Given the description of an element on the screen output the (x, y) to click on. 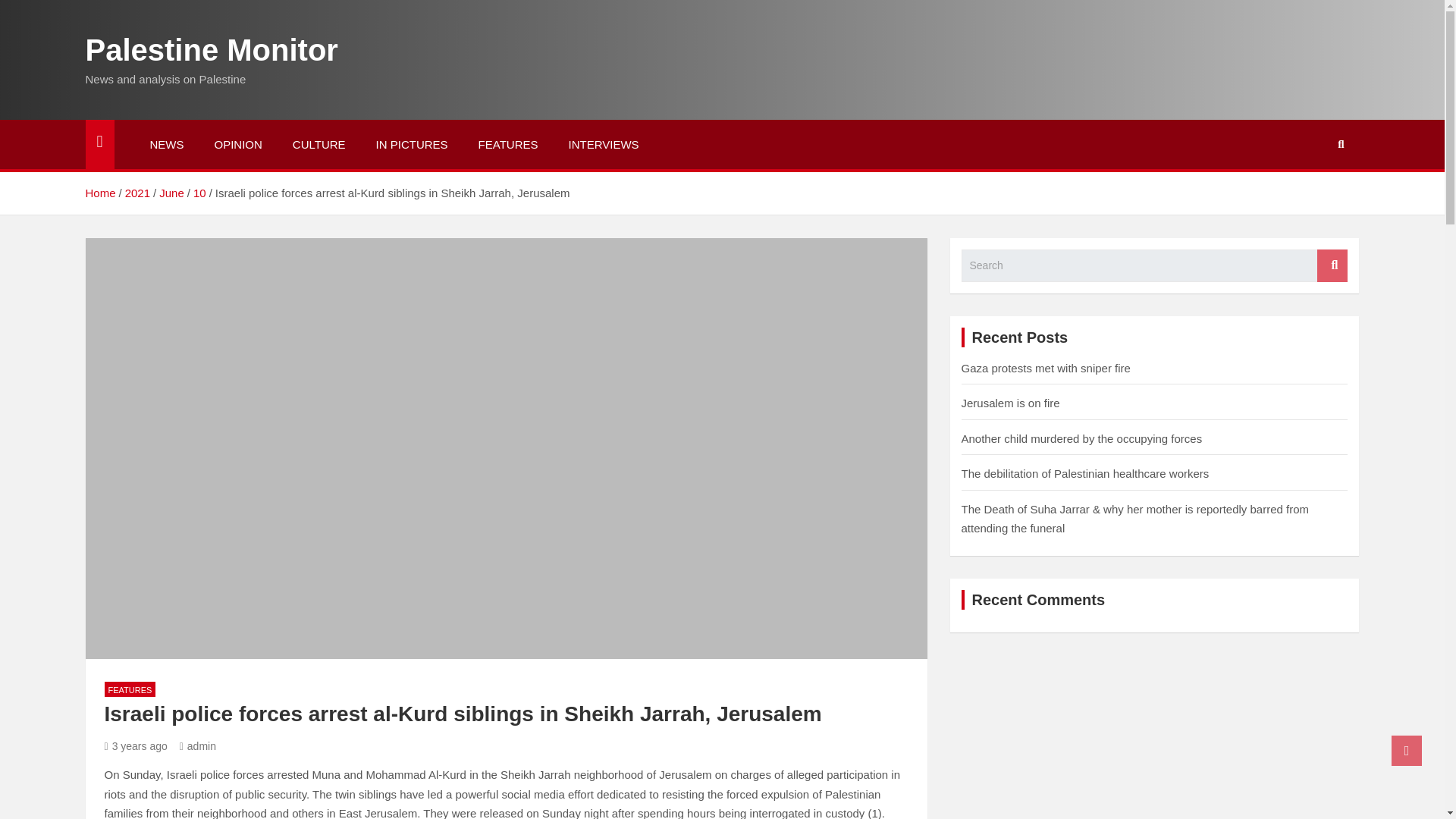
INTERVIEWS (603, 144)
June (171, 192)
admin (197, 746)
FEATURES (508, 144)
CULTURE (319, 144)
Palestine Monitor (210, 49)
Go to Top (1406, 750)
10 (199, 192)
OPINION (237, 144)
2021 (137, 192)
